Given the description of an element on the screen output the (x, y) to click on. 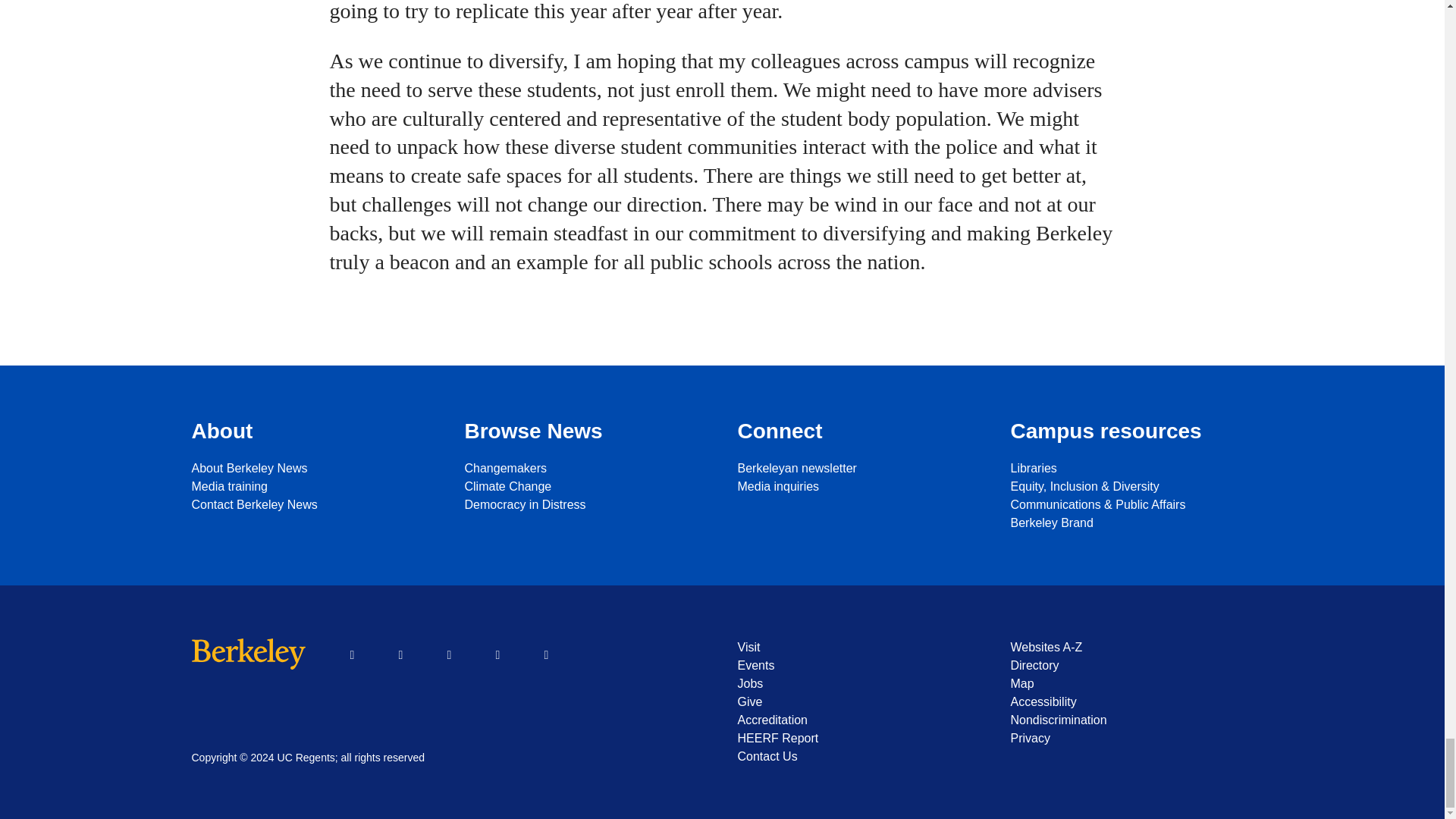
Events (857, 665)
Accreditation (857, 720)
Visit (857, 647)
X (400, 654)
Medium (545, 654)
About Berkeley News (311, 468)
Give (857, 701)
Berkeley Brand (1131, 523)
Facebook (351, 654)
Jobs (857, 683)
Berkeleyan newsletter (857, 468)
YouTube (448, 654)
Climate Change (585, 486)
Democracy in Distress (585, 505)
HEERF Report (857, 738)
